Given the description of an element on the screen output the (x, y) to click on. 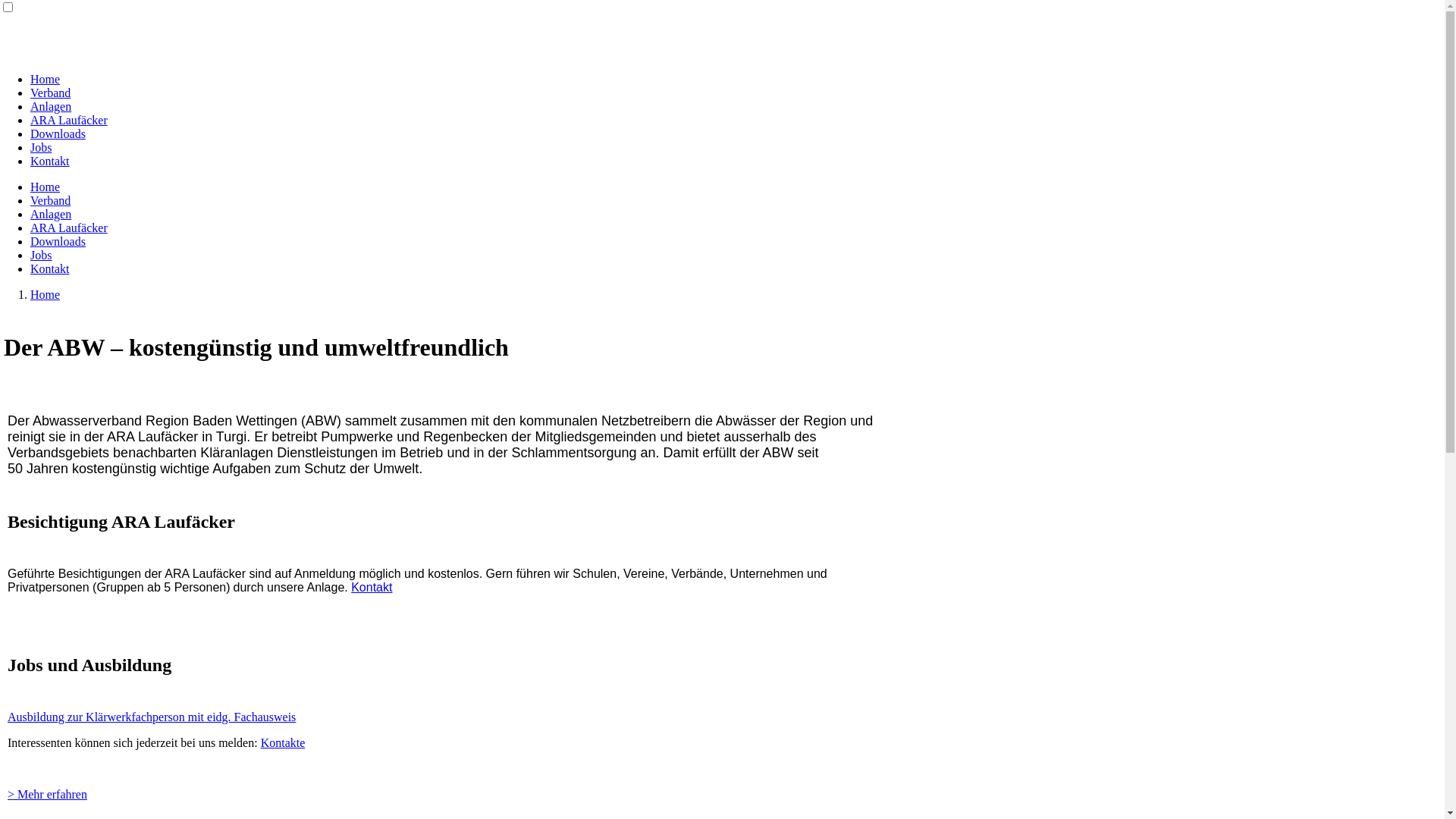
Jobs Element type: text (40, 147)
Downloads Element type: text (57, 241)
Verband Element type: text (50, 92)
Home Element type: text (44, 186)
Kontakt Element type: text (49, 160)
Anlagen Element type: text (50, 106)
Anlagen Element type: text (50, 213)
Kontakte Element type: text (282, 741)
> Mehr erfahren Element type: text (47, 793)
Home Element type: text (44, 78)
Home Element type: text (44, 294)
Kontakt Element type: text (371, 586)
Jobs Element type: text (40, 254)
Kontakt Element type: text (49, 268)
Downloads Element type: text (57, 133)
Verband Element type: text (50, 200)
